Given the description of an element on the screen output the (x, y) to click on. 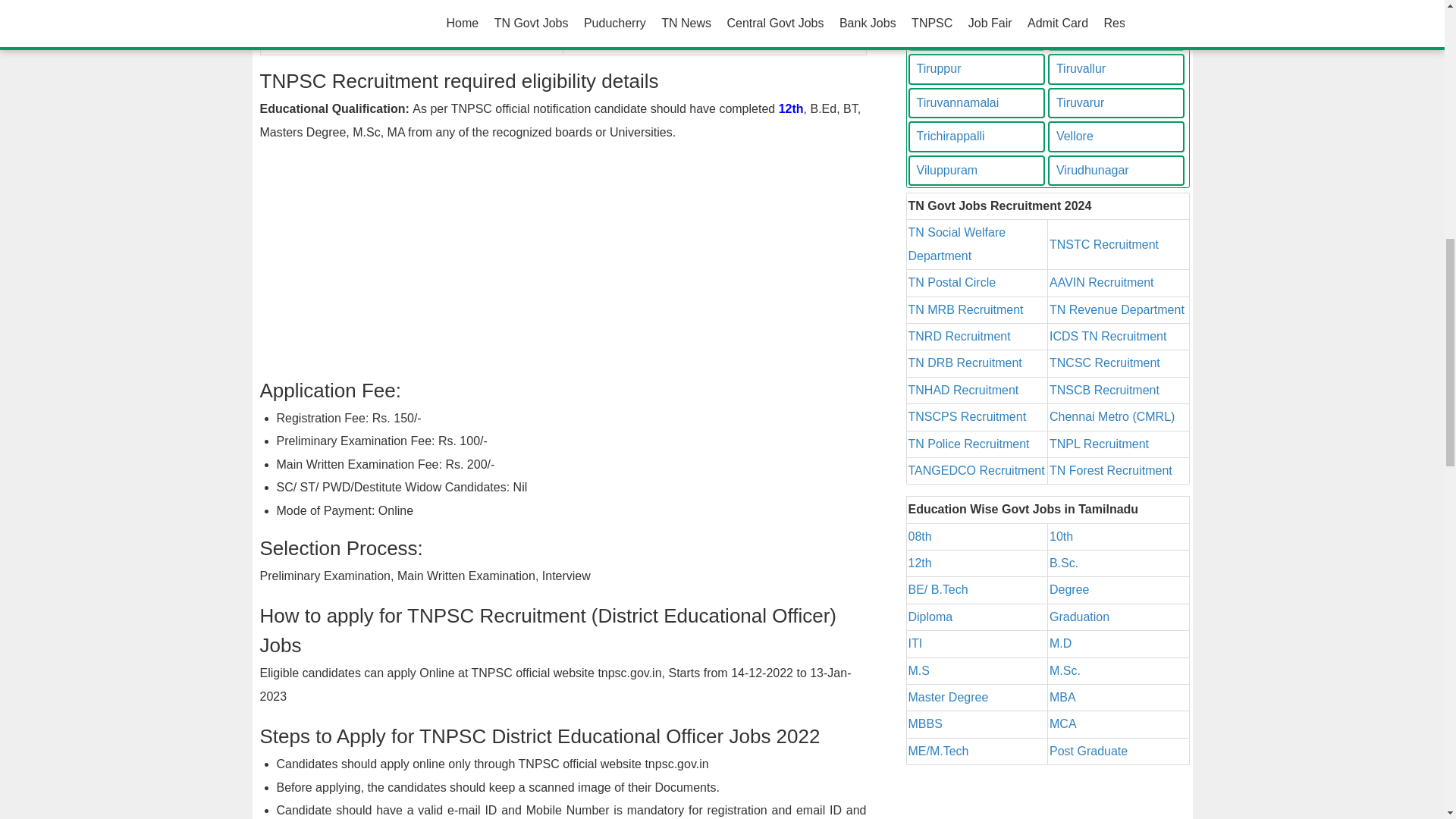
12th (790, 108)
Advertisement (562, 264)
